Given the description of an element on the screen output the (x, y) to click on. 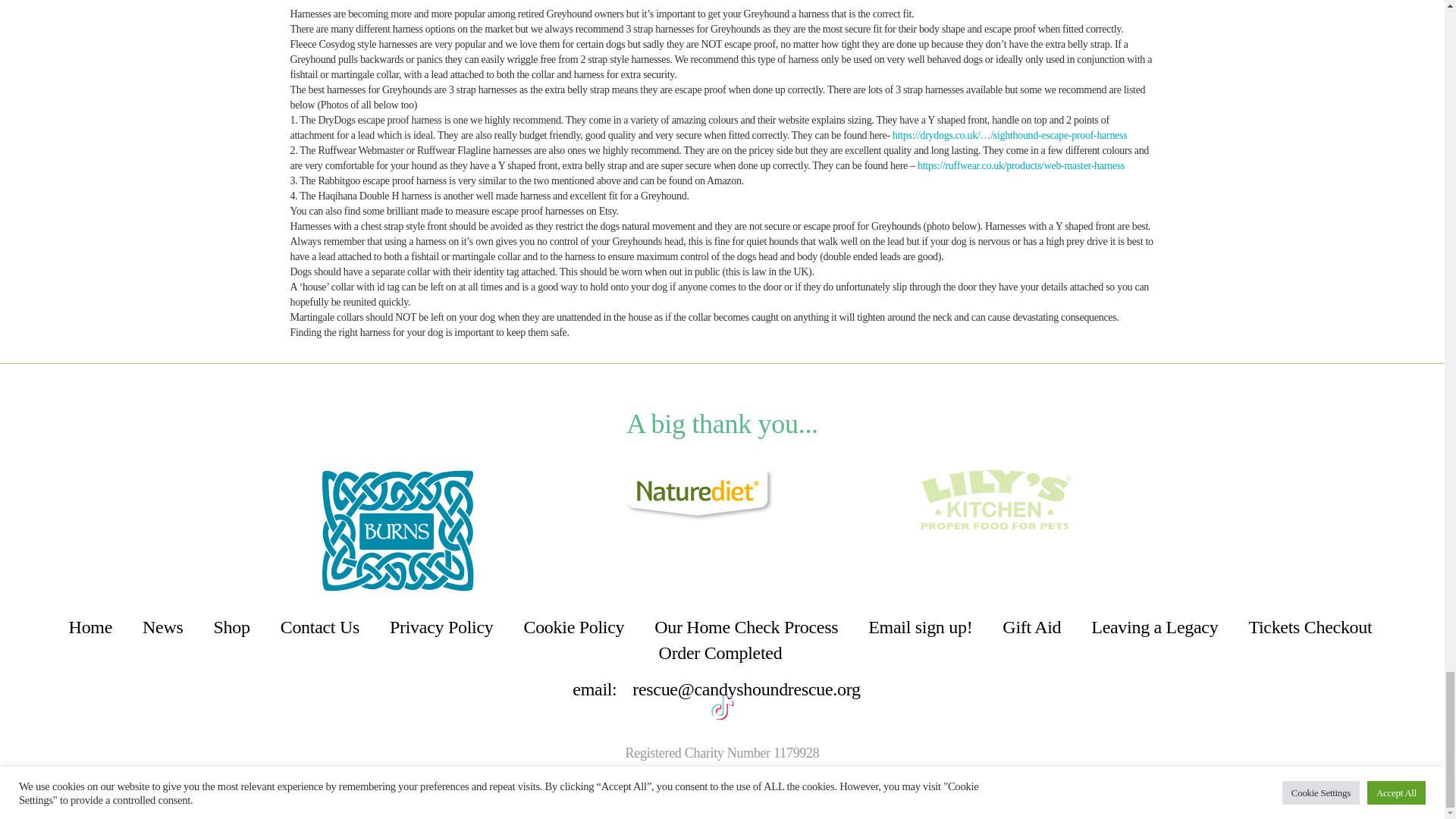
Privacy Policy (440, 626)
Home (90, 626)
Contact Us (320, 626)
Cookie Policy (573, 626)
News (162, 626)
Our Home Check Process (745, 626)
Shop (232, 626)
